Given the description of an element on the screen output the (x, y) to click on. 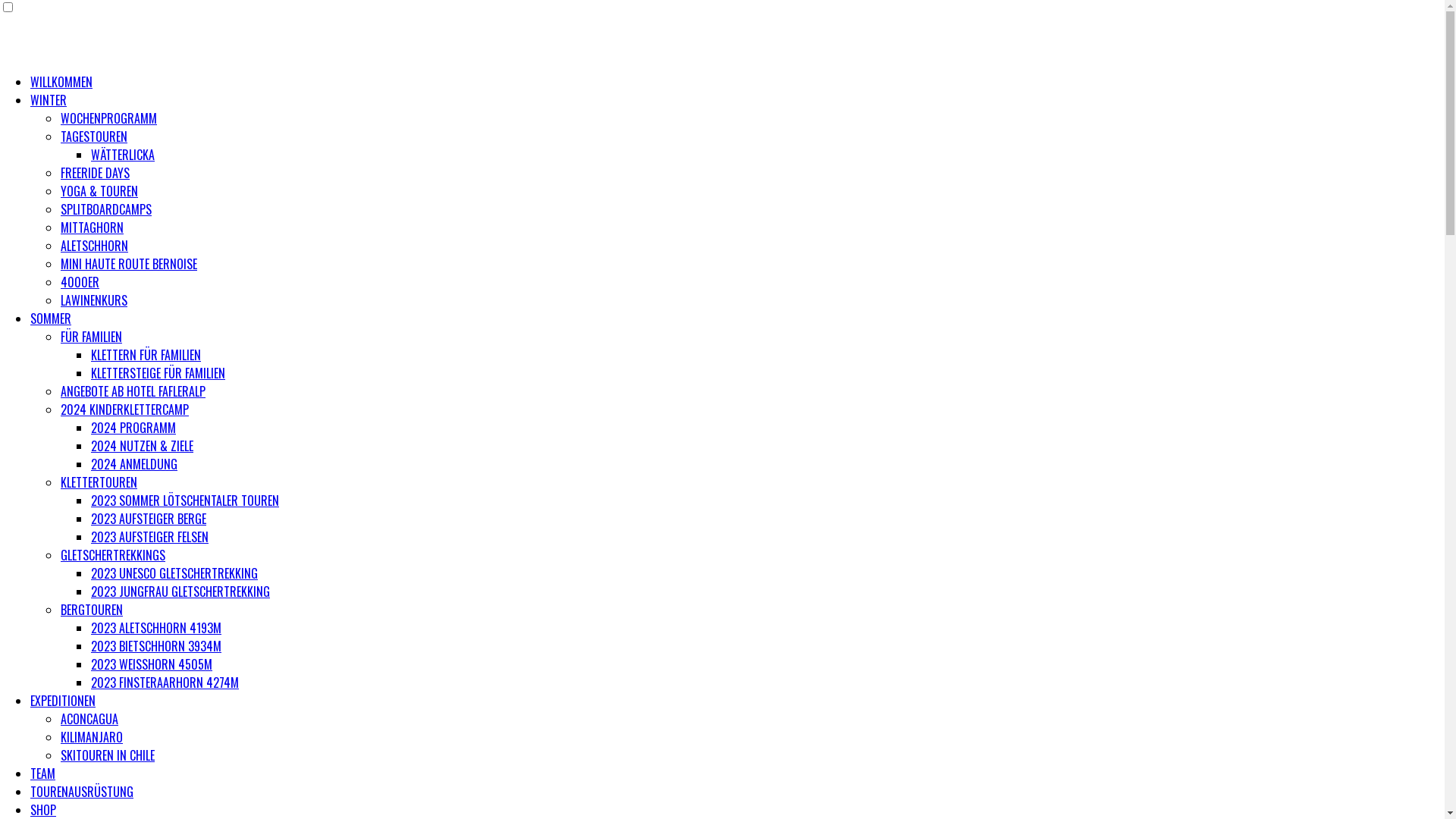
2024 KINDERKLETTERCAMP Element type: text (124, 409)
GLETSCHERTREKKINGS Element type: text (112, 555)
TEAM Element type: text (42, 773)
2024 ANMELDUNG Element type: text (134, 464)
WINTER Element type: text (48, 100)
2023 JUNGFRAU GLETSCHERTREKKING Element type: text (180, 591)
2023 WEISSHORN 4505M Element type: text (151, 664)
2023 ALETSCHHORN 4193M Element type: text (156, 627)
WOCHENPROGRAMM Element type: text (108, 118)
KILIMANJARO Element type: text (91, 737)
SPLITBOARDCAMPS Element type: text (105, 209)
BERGTOUREN Element type: text (91, 609)
LAWINENKURS Element type: text (93, 300)
WILLKOMMEN Element type: text (61, 81)
YOGA & TOUREN Element type: text (99, 191)
2024 NUTZEN & ZIELE Element type: text (142, 445)
ANGEBOTE AB HOTEL FAFLERALP Element type: text (132, 391)
4000ER Element type: text (79, 282)
SOMMER Element type: text (50, 318)
2023 AUFSTEIGER FELSEN Element type: text (149, 536)
TAGESTOUREN Element type: text (93, 136)
MITTAGHORN Element type: text (91, 227)
2023 UNESCO GLETSCHERTREKKING Element type: text (174, 573)
2024 PROGRAMM Element type: text (133, 427)
2023 FINSTERAARHORN 4274M Element type: text (164, 682)
EXPEDITIONEN Element type: text (62, 700)
KLETTERTOUREN Element type: text (98, 482)
FREERIDE DAYS Element type: text (94, 172)
2023 AUFSTEIGER BERGE Element type: text (148, 518)
MINI HAUTE ROUTE BERNOISE Element type: text (128, 263)
ACONCAGUA Element type: text (89, 718)
SKITOUREN IN CHILE Element type: text (107, 755)
2023 BIETSCHHORN 3934M Element type: text (156, 646)
ALETSCHHORN Element type: text (94, 245)
